Given the description of an element on the screen output the (x, y) to click on. 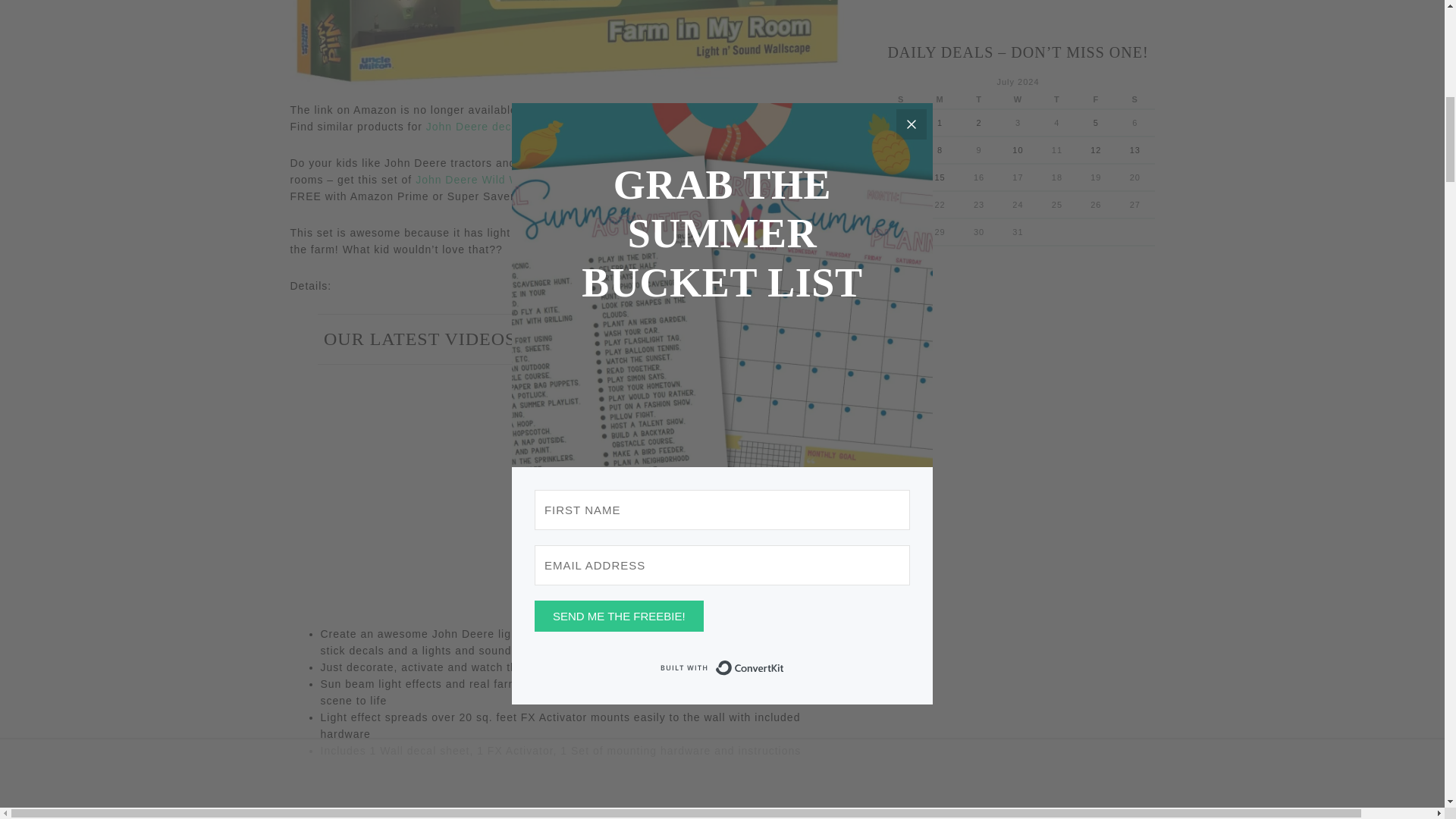
Friday (1096, 99)
Monday (939, 99)
Sunday (900, 99)
Tuesday (978, 99)
Thursday (1055, 99)
Wednesday (1017, 99)
Saturday (1134, 99)
